Given the description of an element on the screen output the (x, y) to click on. 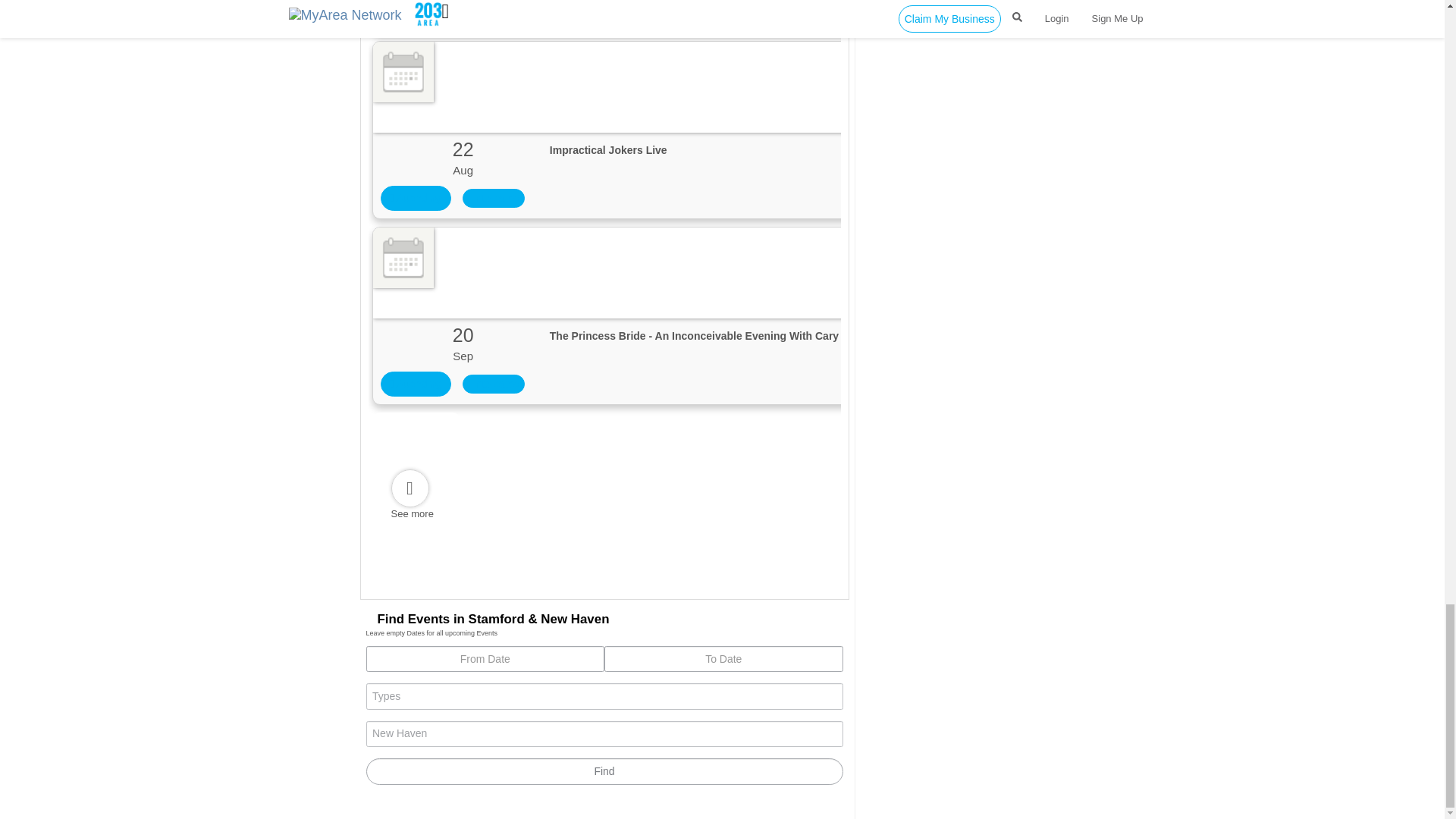
Find (604, 771)
